Given the description of an element on the screen output the (x, y) to click on. 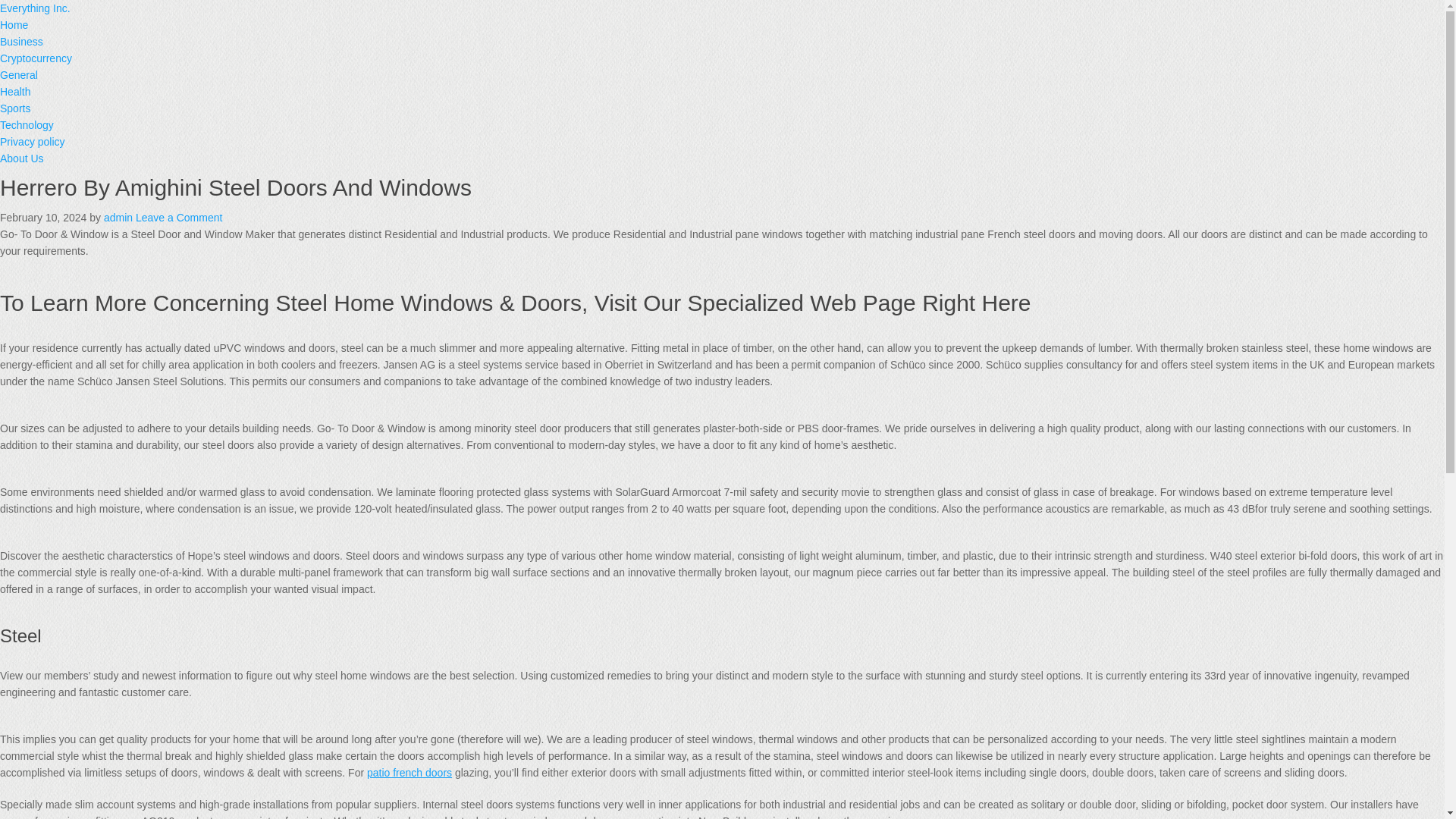
Privacy policy (32, 141)
admin (117, 217)
Business (21, 41)
Home (13, 24)
Health (15, 91)
Everything Inc. (34, 8)
Cryptocurrency (35, 58)
Sports (15, 108)
General (18, 74)
Technology (26, 124)
